Given the description of an element on the screen output the (x, y) to click on. 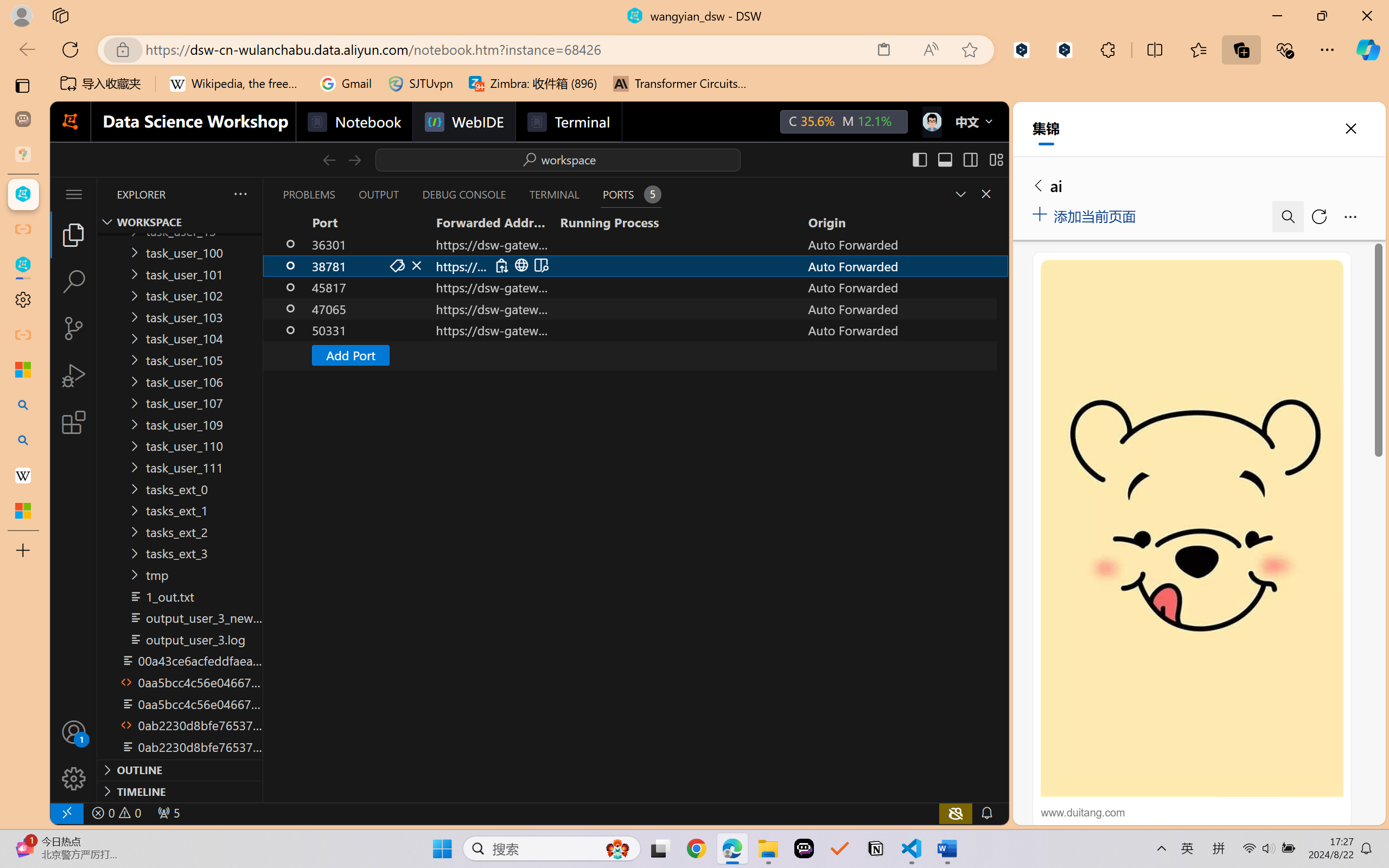
Forwarded Ports: 36301, 47065, 38781, 45817, 50331 (167, 812)
wangyian_dsw - DSW (22, 194)
Explorer Section: workspace (179, 221)
Class: menubar compact overflow-menu-only (73, 194)
Extensions (Ctrl+Shift+X) (73, 422)
wangyian_webcrawler - DSW (22, 264)
Copilot (Ctrl+Shift+.) (1368, 49)
Ports - 5 forwarded ports Ports - 5 forwarded ports (630, 194)
